Given the description of an element on the screen output the (x, y) to click on. 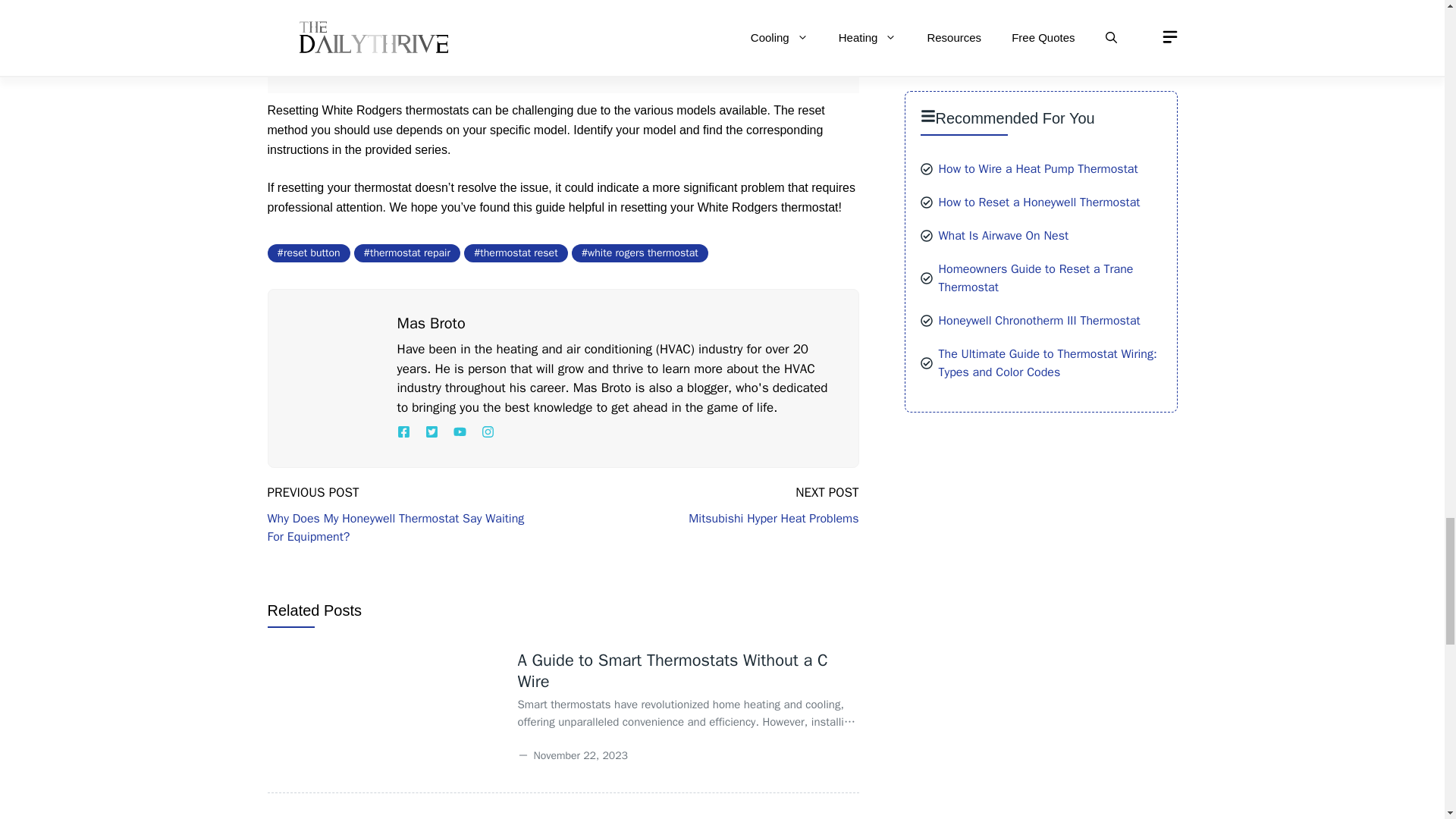
reset button (307, 253)
thermostat repair (406, 253)
Why Does My Honeywell Thermostat Say Waiting For Equipment? (395, 527)
A Guide to Smart Thermostats Without a C Wire (671, 671)
thermostat reset (515, 253)
white rogers thermostat (639, 253)
Mitsubishi Hyper Heat Problems (773, 518)
